Given the description of an element on the screen output the (x, y) to click on. 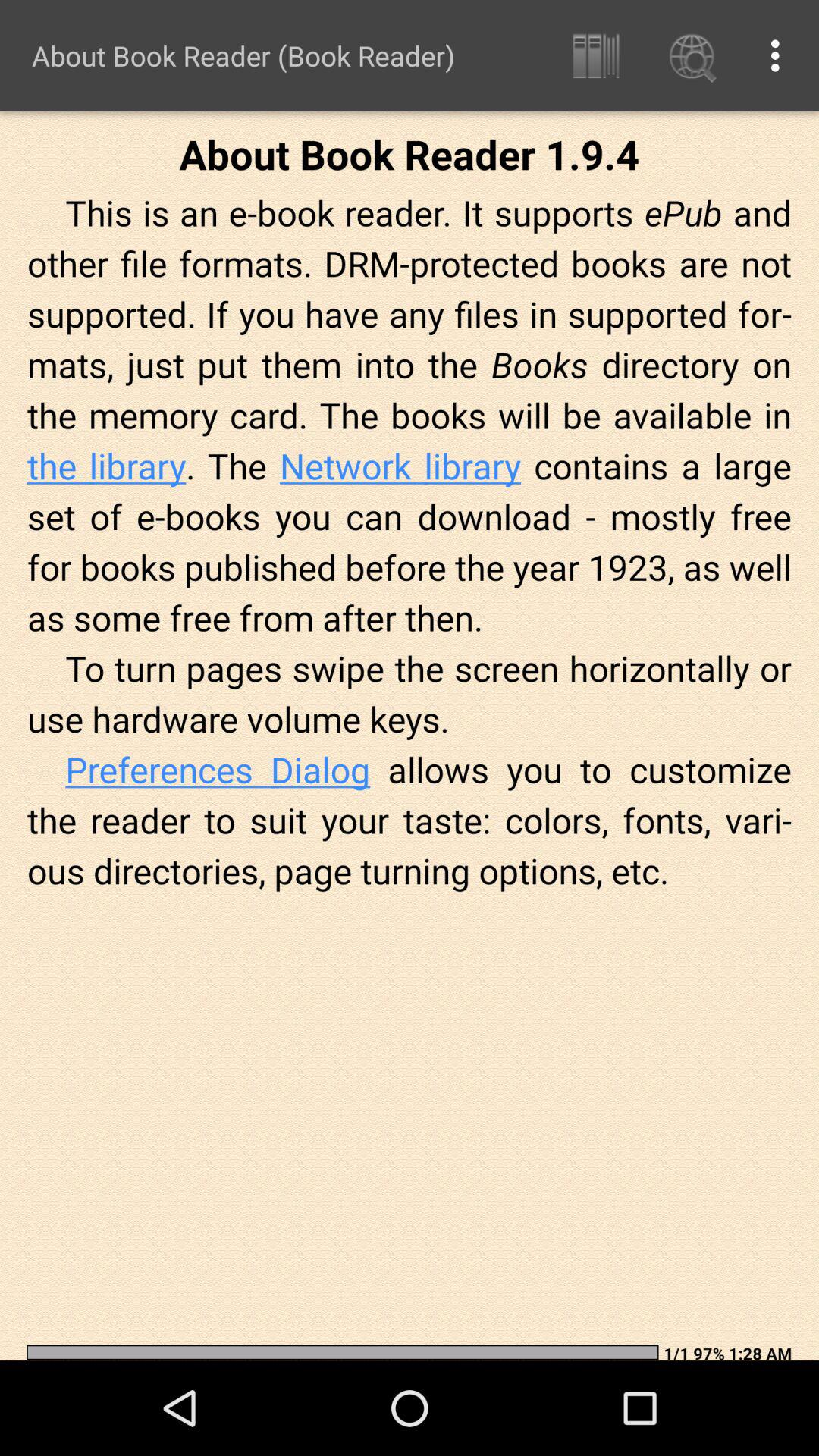
scroll until about book reader icon (243, 55)
